Given the description of an element on the screen output the (x, y) to click on. 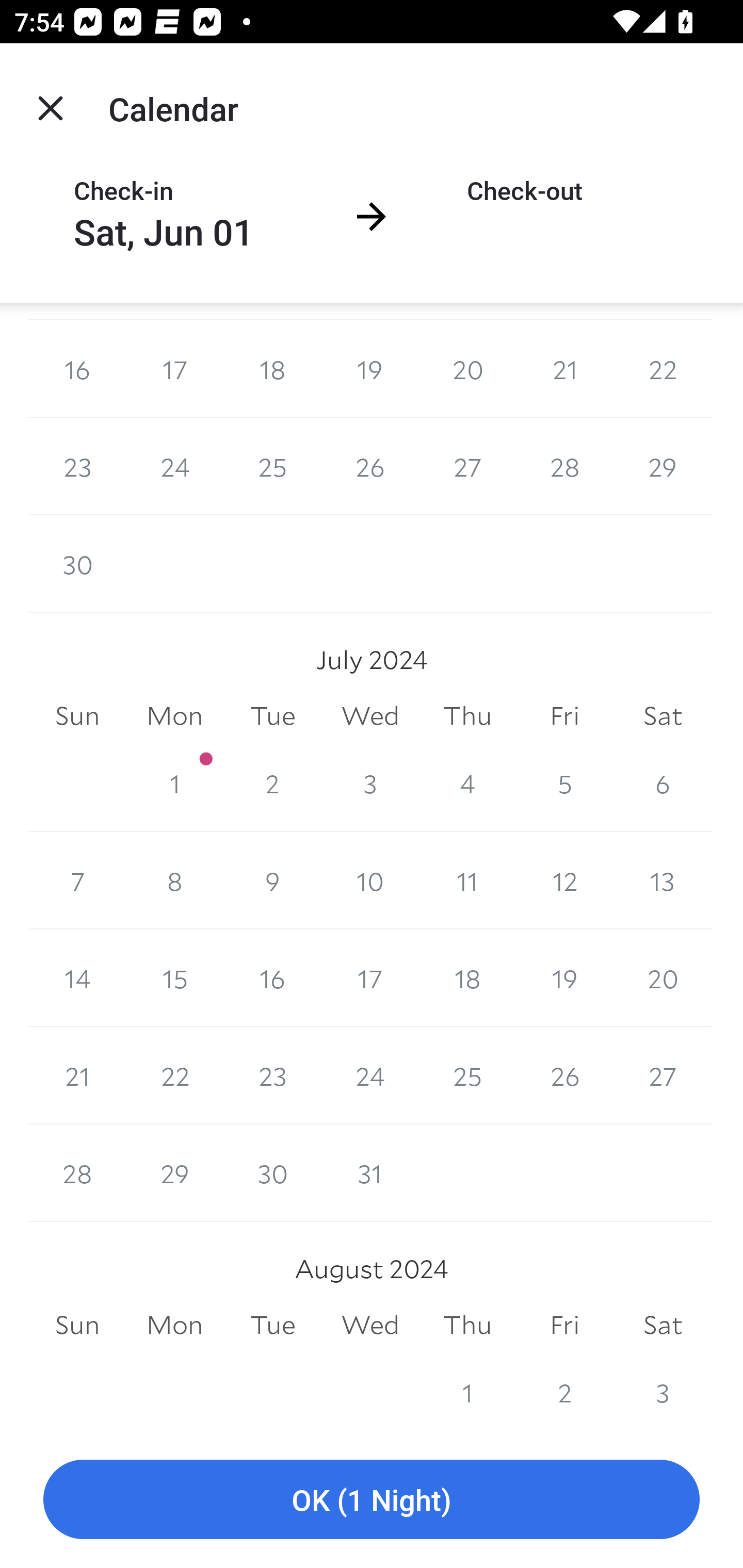
16 16 June 2024 (77, 368)
17 17 June 2024 (174, 368)
18 18 June 2024 (272, 368)
19 19 June 2024 (370, 368)
20 20 June 2024 (467, 368)
21 21 June 2024 (564, 368)
22 22 June 2024 (662, 368)
23 23 June 2024 (77, 466)
24 24 June 2024 (174, 466)
25 25 June 2024 (272, 466)
26 26 June 2024 (370, 466)
27 27 June 2024 (467, 466)
28 28 June 2024 (564, 466)
29 29 June 2024 (662, 466)
30 30 June 2024 (77, 564)
Sun (77, 715)
Mon (174, 715)
Tue (272, 715)
Wed (370, 715)
Thu (467, 715)
Fri (564, 715)
Sat (662, 715)
1 1 July 2024 (174, 782)
2 2 July 2024 (272, 782)
3 3 July 2024 (370, 782)
4 4 July 2024 (467, 782)
5 5 July 2024 (564, 782)
6 6 July 2024 (662, 782)
7 7 July 2024 (77, 880)
8 8 July 2024 (174, 880)
9 9 July 2024 (272, 880)
10 10 July 2024 (370, 880)
11 11 July 2024 (467, 880)
12 12 July 2024 (564, 880)
13 13 July 2024 (662, 880)
14 14 July 2024 (77, 978)
15 15 July 2024 (174, 978)
16 16 July 2024 (272, 978)
17 17 July 2024 (370, 978)
18 18 July 2024 (467, 978)
19 19 July 2024 (564, 978)
20 20 July 2024 (662, 978)
21 21 July 2024 (77, 1075)
22 22 July 2024 (174, 1075)
23 23 July 2024 (272, 1075)
24 24 July 2024 (370, 1075)
25 25 July 2024 (467, 1075)
26 26 July 2024 (564, 1075)
27 27 July 2024 (662, 1075)
